Given the description of an element on the screen output the (x, y) to click on. 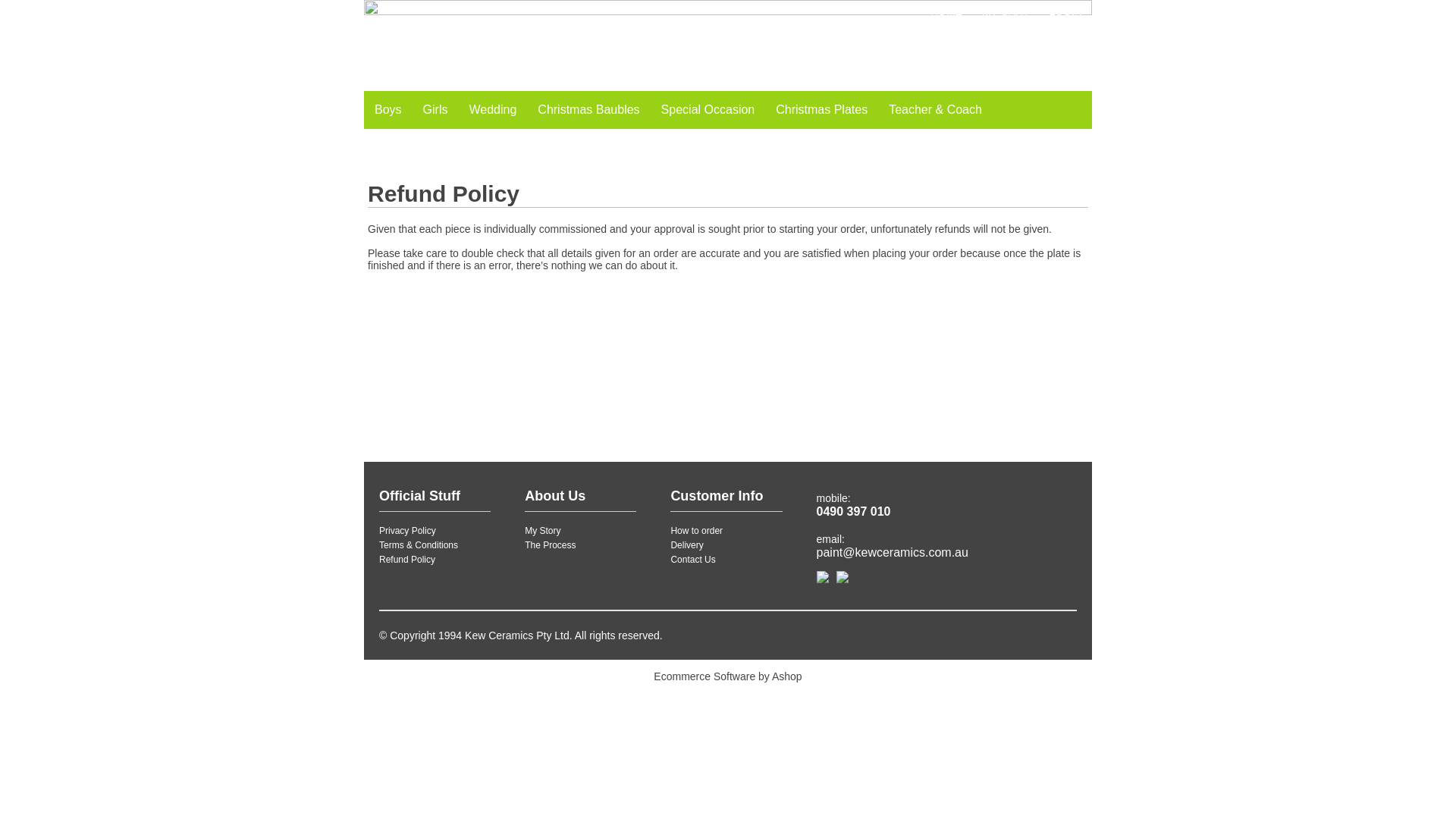
Ecommerce Software by Ashop Element type: text (727, 674)
Terms & Conditions Element type: text (418, 544)
HOME Element type: text (945, 11)
Christmas Plates Element type: text (821, 109)
MY CART Element type: text (1005, 11)
Contact Us Element type: text (692, 559)
paint@kewceramics.com.au Element type: text (892, 552)
Privacy Policy Element type: text (407, 530)
Special Occasion Element type: text (707, 109)
Christmas Baubles Element type: text (588, 109)
How to order Element type: text (696, 530)
Refund Policy Element type: text (407, 559)
Teacher & Coach Element type: text (935, 109)
Girls Element type: text (435, 109)
Delivery Element type: text (686, 544)
Boys Element type: text (388, 109)
LOGIN Element type: text (1065, 11)
The Process Element type: text (549, 544)
Wedding Element type: text (492, 109)
My Story Element type: text (542, 530)
